Given the description of an element on the screen output the (x, y) to click on. 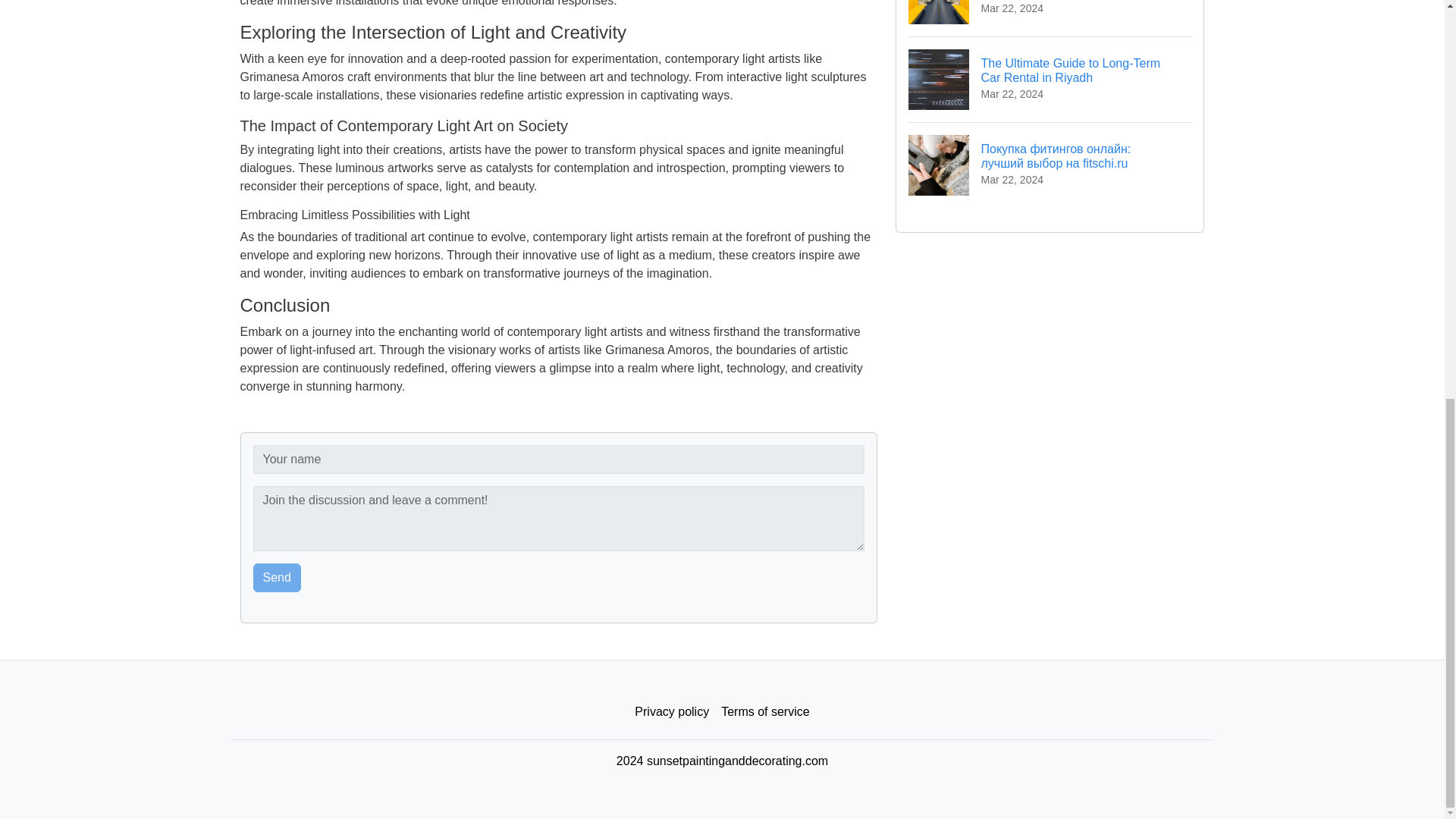
Send (277, 577)
Terms of service (764, 711)
Send (277, 577)
Privacy policy (671, 711)
